Given the description of an element on the screen output the (x, y) to click on. 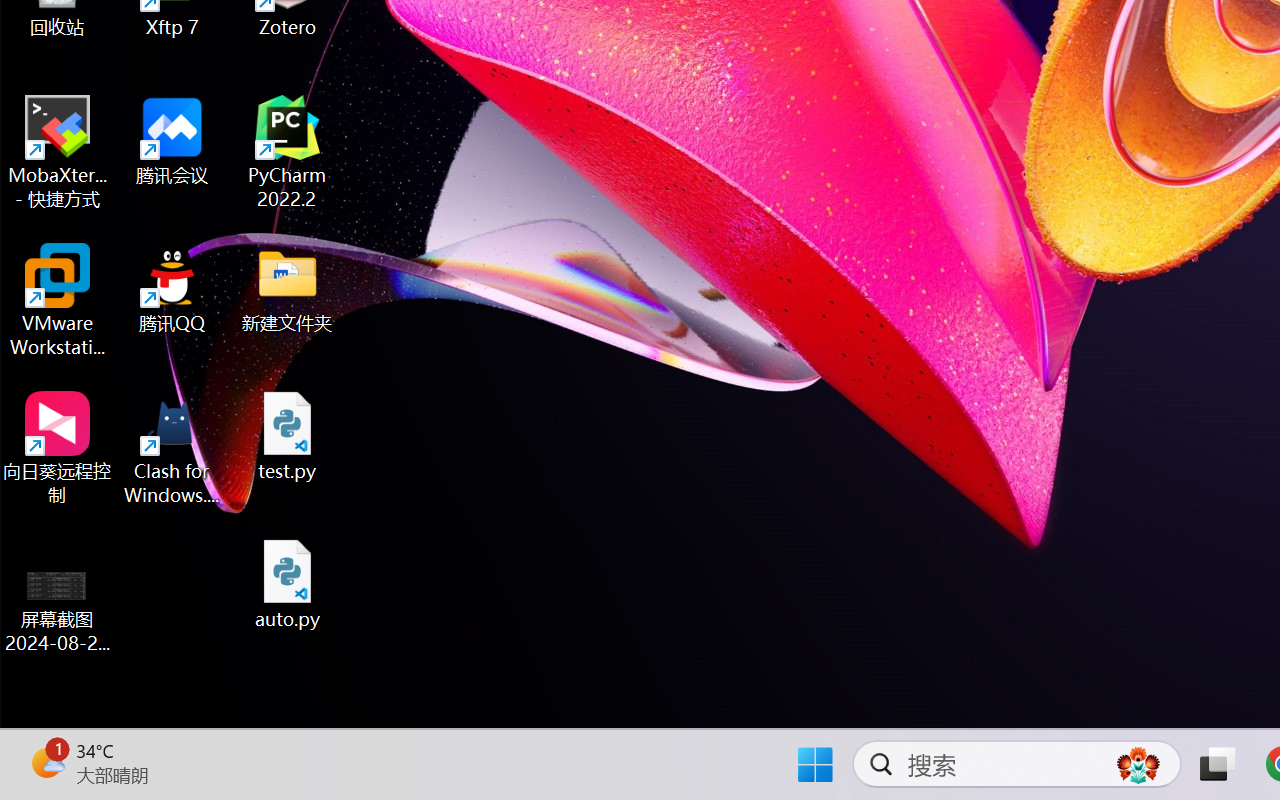
auto.py (287, 584)
VMware Workstation Pro (57, 300)
test.py (287, 436)
PyCharm 2022.2 (287, 152)
